Given the description of an element on the screen output the (x, y) to click on. 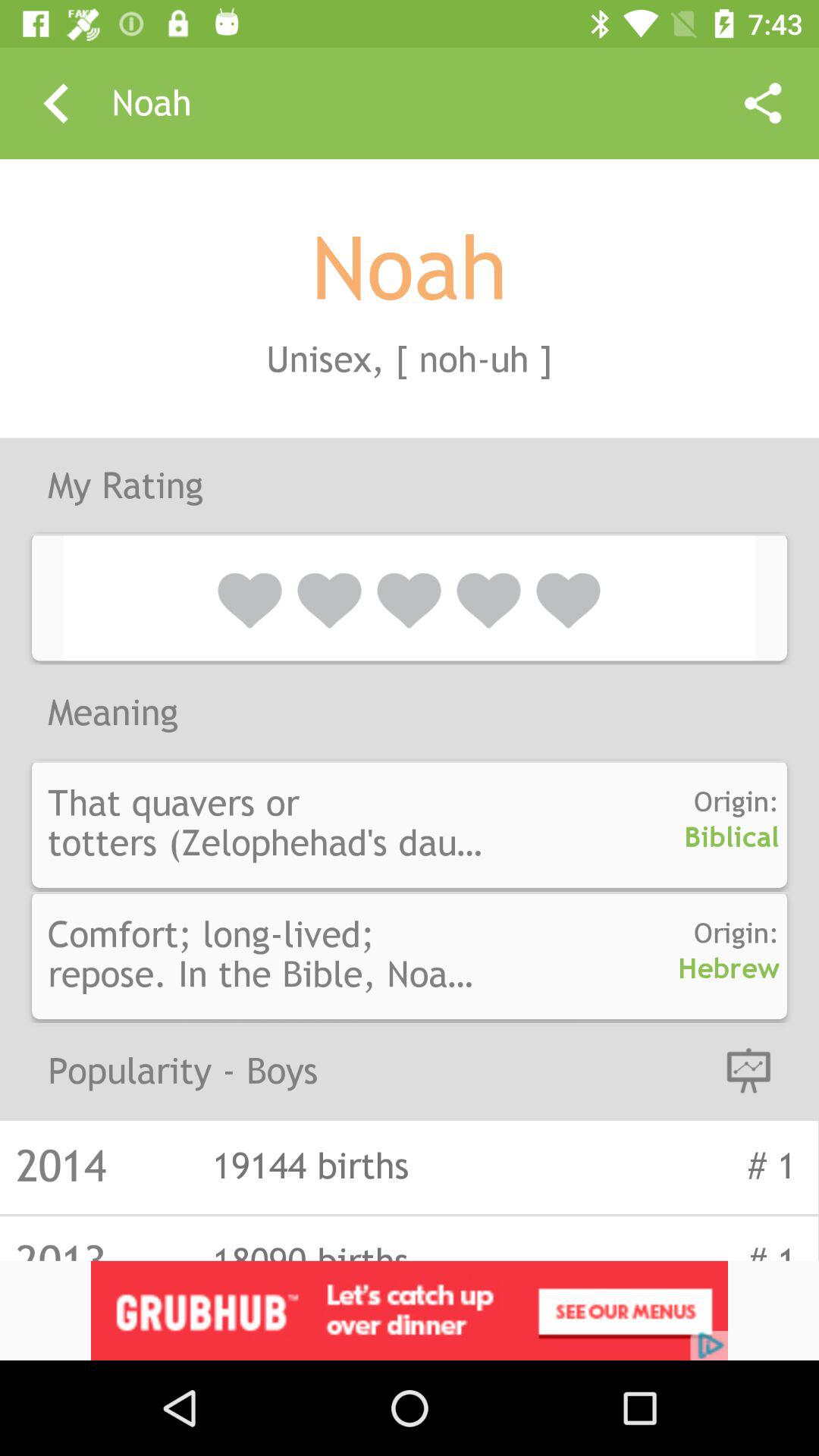
go to previous (55, 103)
